Given the description of an element on the screen output the (x, y) to click on. 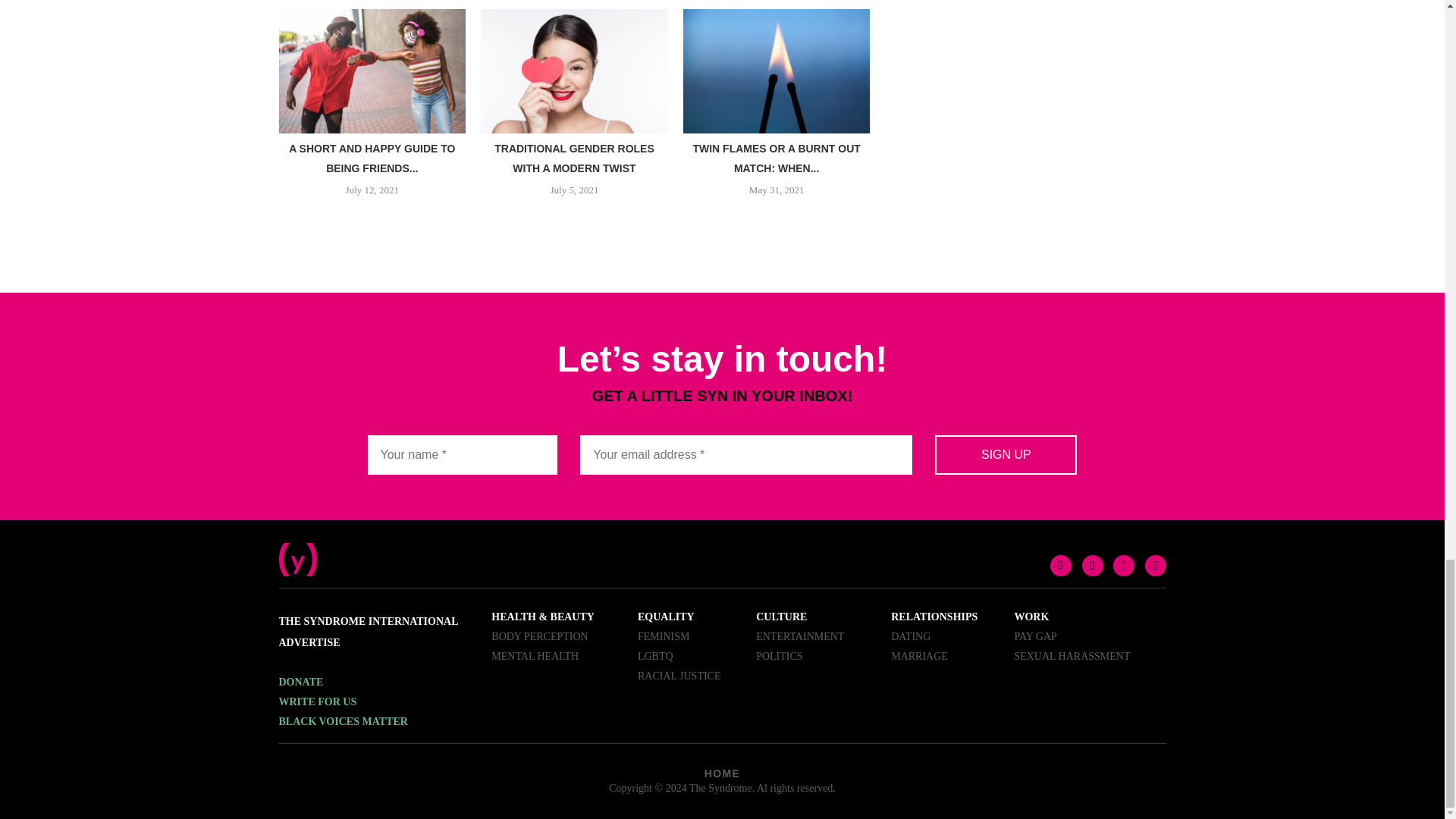
Homepage (298, 548)
A Short and Happy Guide to Being Friends With Your Ex (372, 71)
Twin Flames or a Burnt Out Match: When to Choose You (776, 71)
Traditional Gender Roles with a Modern Twist (574, 71)
Homepage (720, 787)
Sign Up (1005, 454)
